Given the description of an element on the screen output the (x, y) to click on. 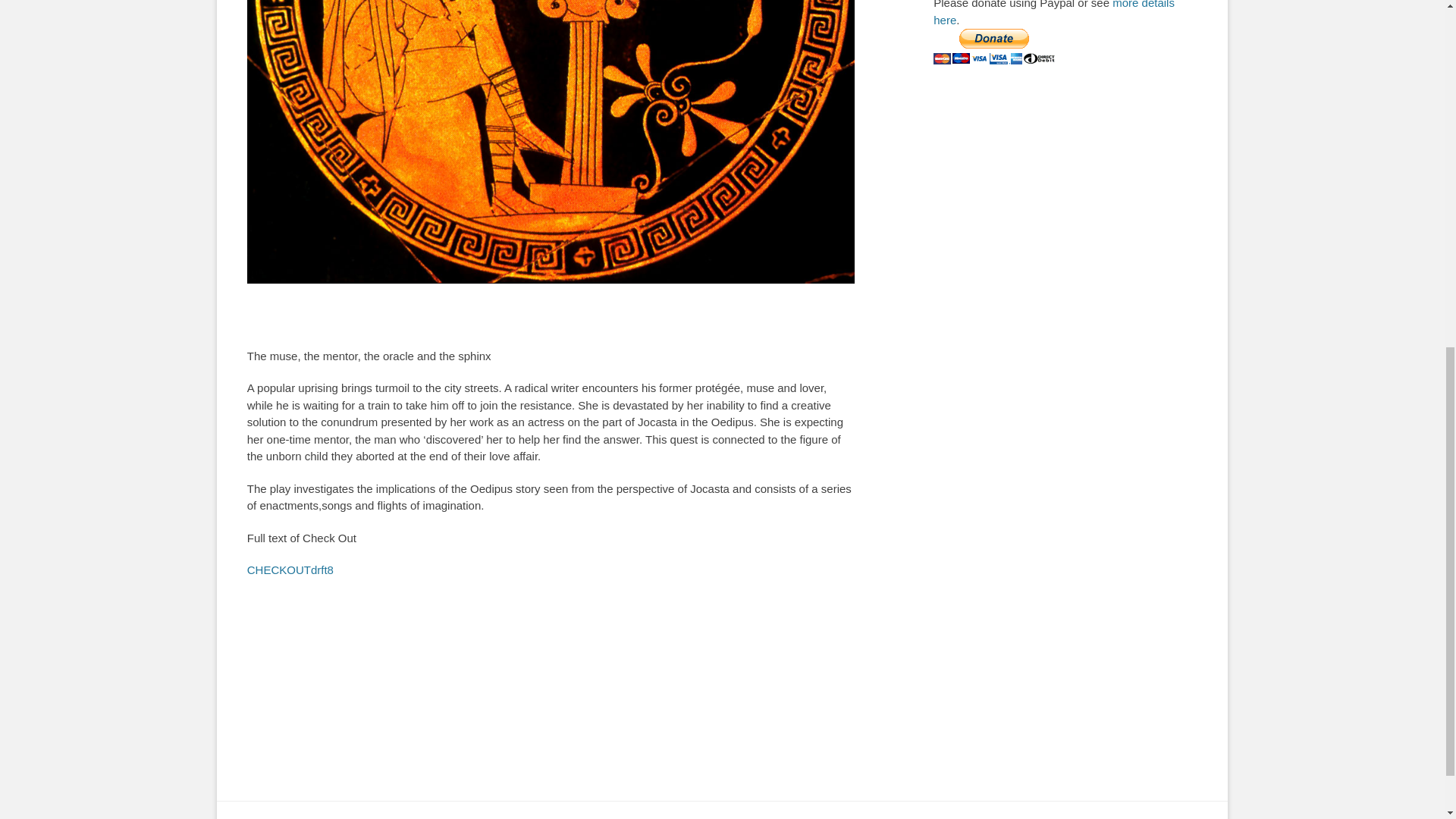
CHECKOUTdrft8 (290, 569)
